Given the description of an element on the screen output the (x, y) to click on. 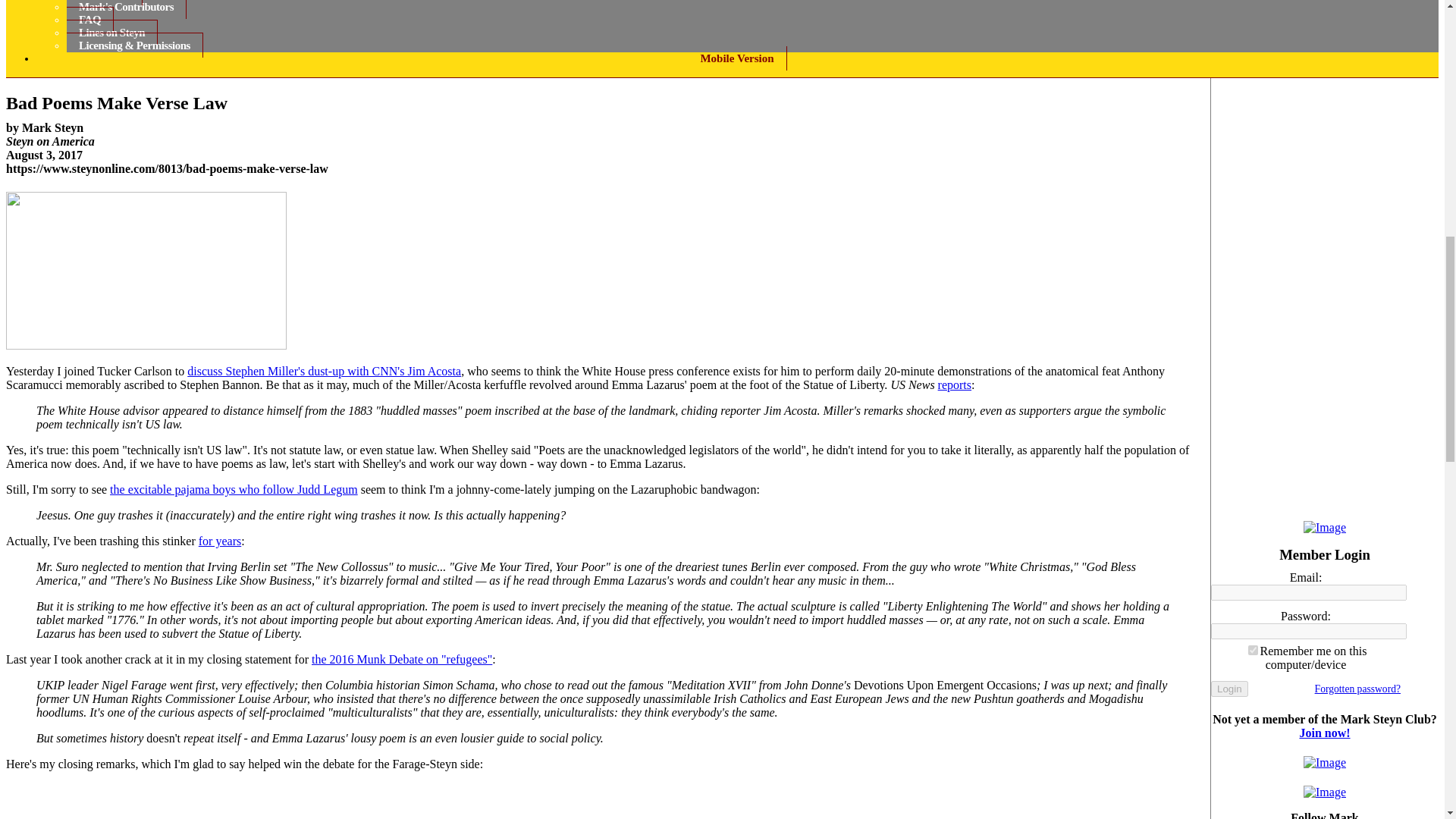
Login (1229, 688)
persist (1252, 650)
